Given the description of an element on the screen output the (x, y) to click on. 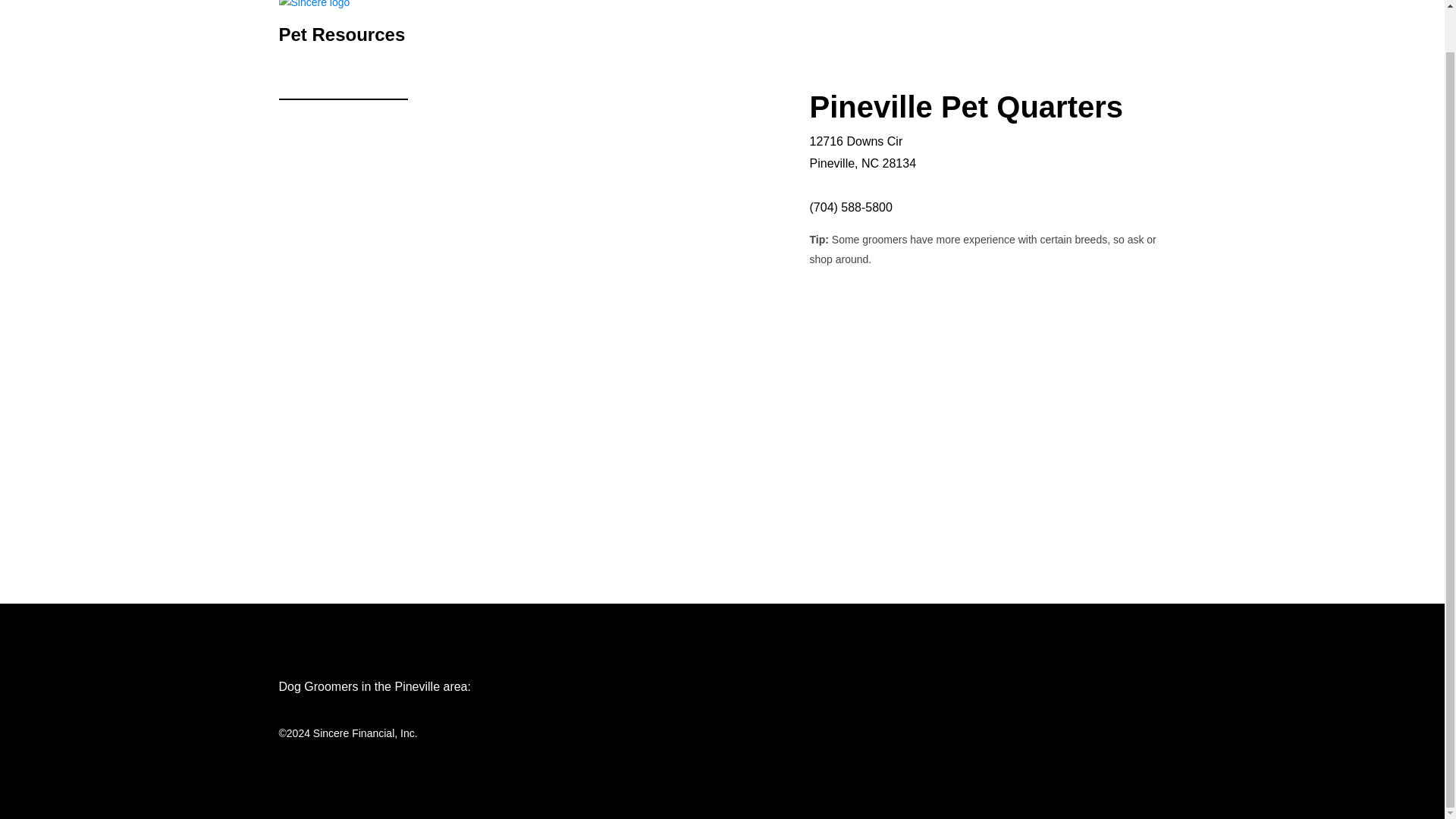
Dog Groomers in the Pineville area: (374, 686)
Pet Resources (342, 32)
